Given the description of an element on the screen output the (x, y) to click on. 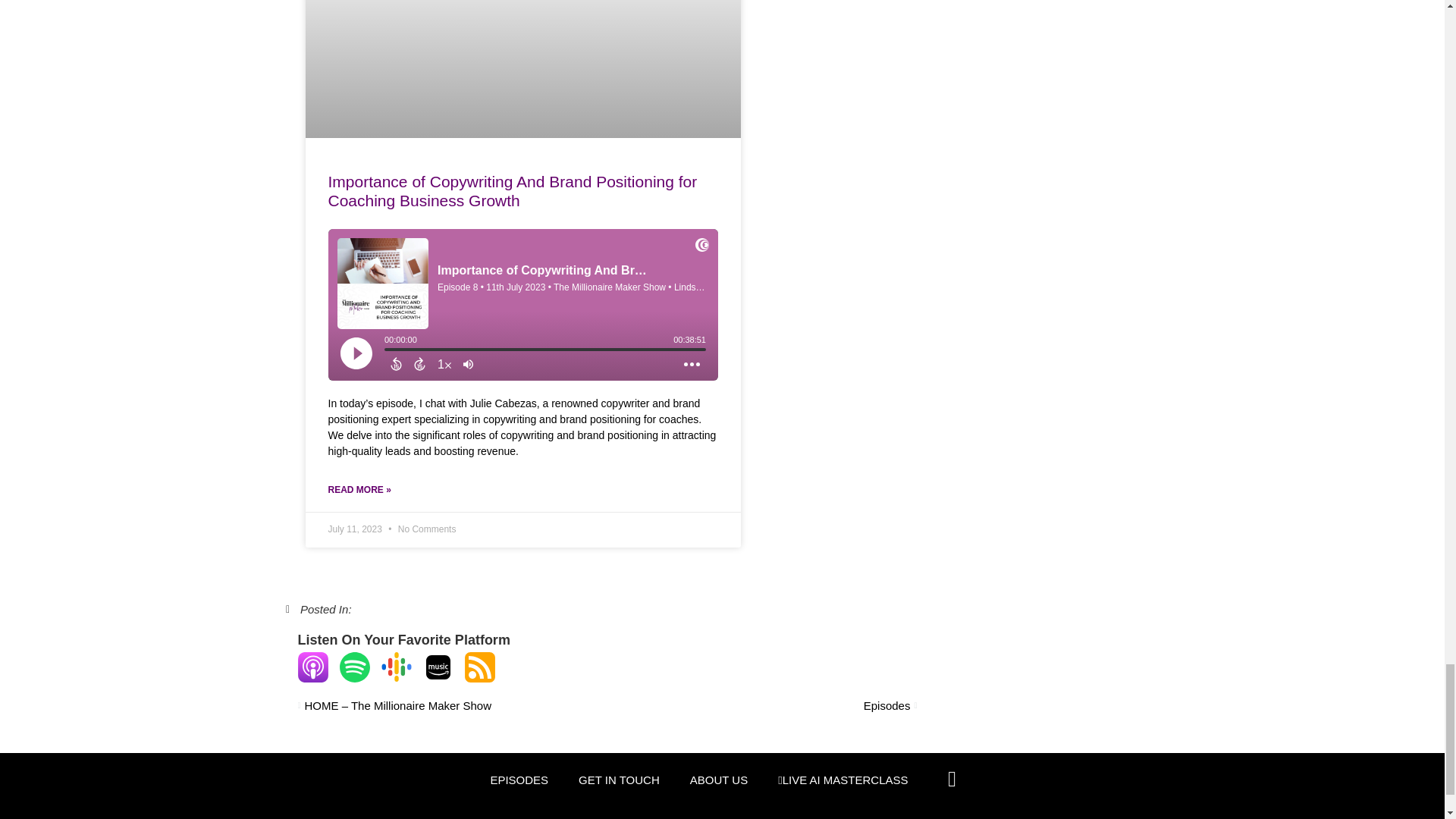
Website Thumbnail The Millionaire Maker Podcast BLOG (518, 67)
Episodes (762, 705)
